Given the description of an element on the screen output the (x, y) to click on. 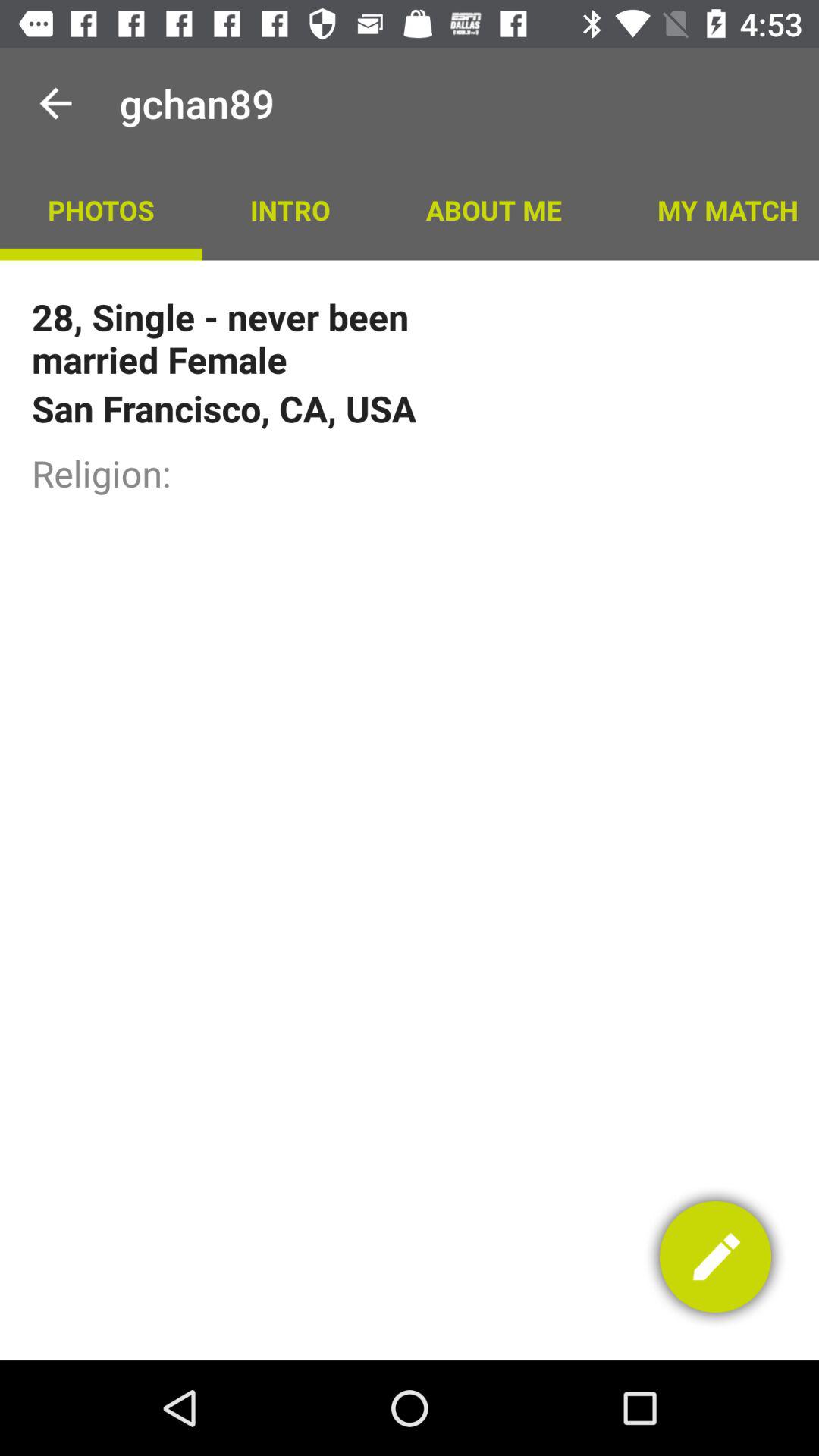
choose the app to the left of gchan89 (55, 103)
